Given the description of an element on the screen output the (x, y) to click on. 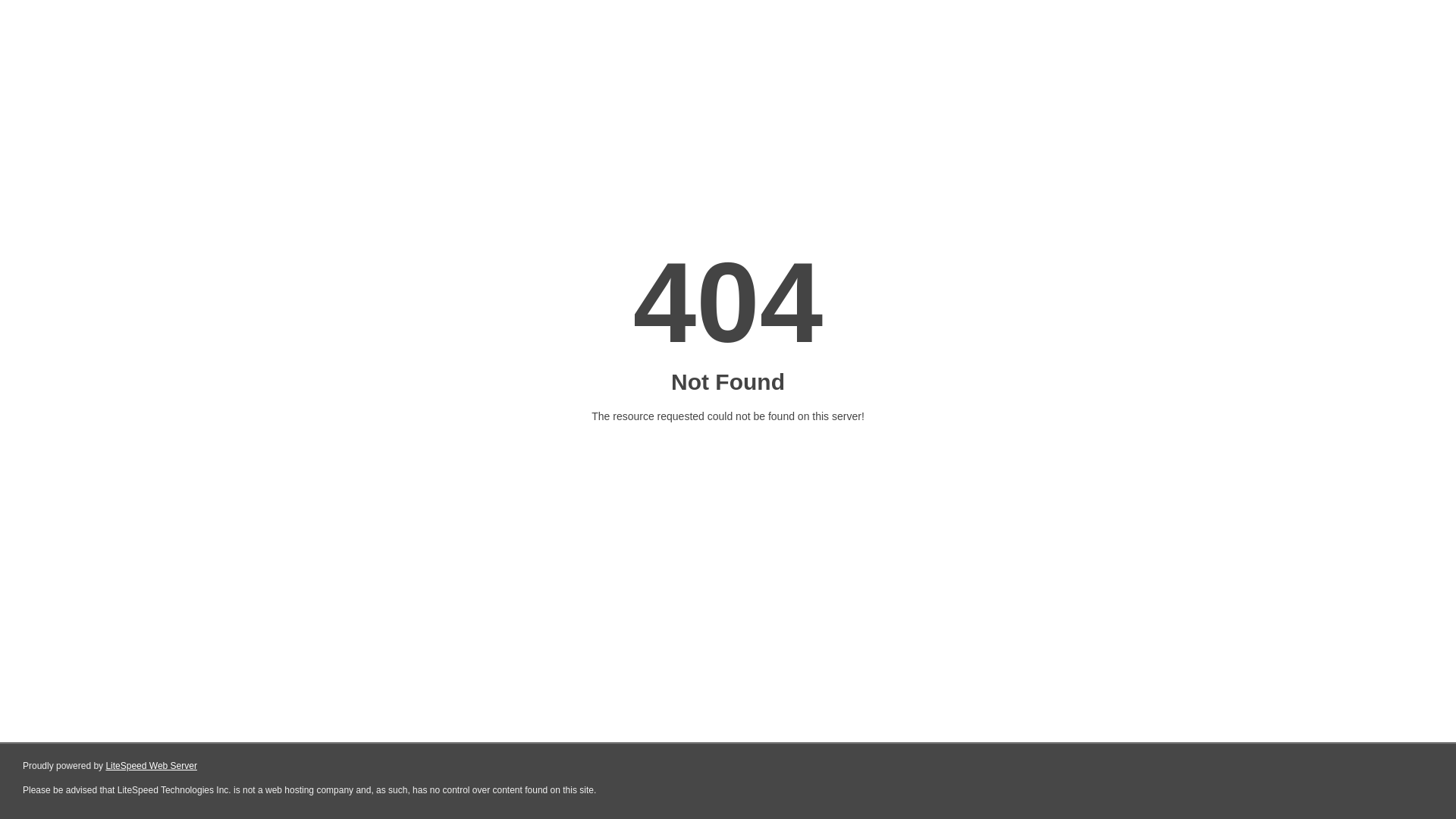
LiteSpeed Web Server Element type: text (151, 765)
